Given the description of an element on the screen output the (x, y) to click on. 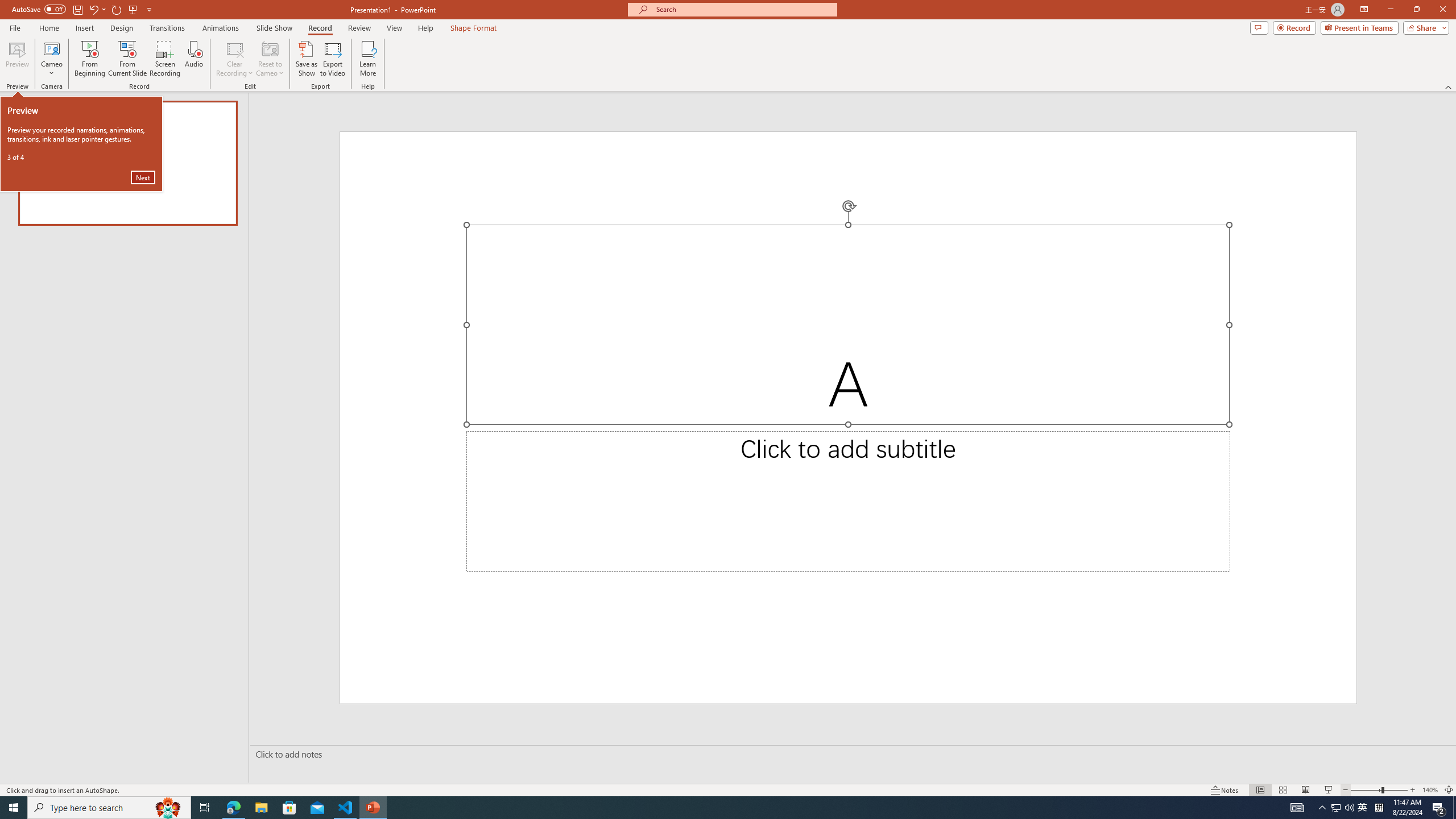
Zoom 140% (1430, 790)
Reset to Cameo (269, 58)
Export to Video (332, 58)
